Given the description of an element on the screen output the (x, y) to click on. 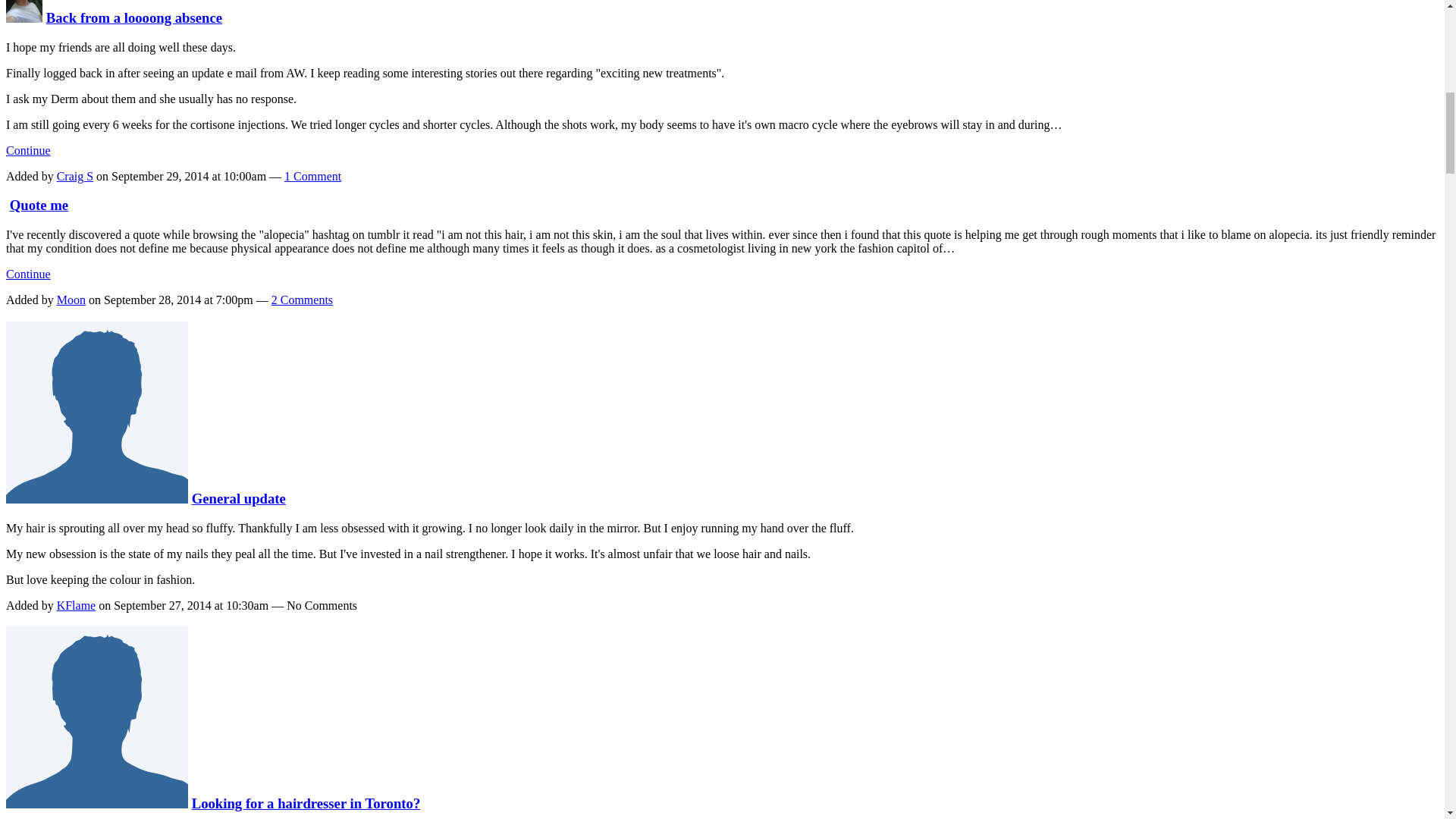
1 Comment (311, 175)
Moon (70, 299)
Back from a loooong absence (134, 17)
KFlame (76, 604)
2 Comments (301, 299)
KFlame (96, 498)
Craig S (23, 17)
Christopher (96, 803)
Looking for a hairdresser in Toronto? (306, 803)
Continue (27, 273)
